Given the description of an element on the screen output the (x, y) to click on. 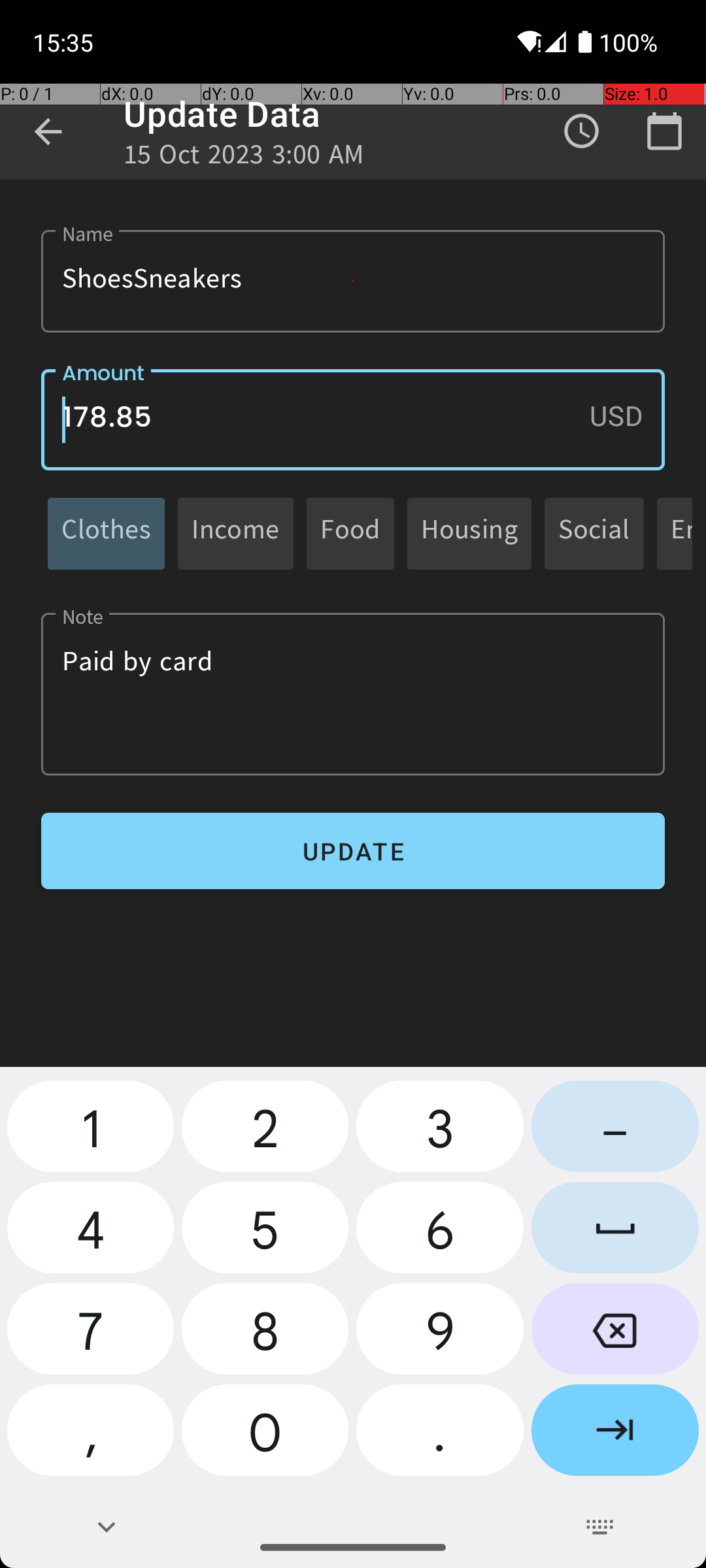
15 Oct 2023 3:00 AM Element type: android.widget.TextView (243, 157)
ShoesSneakers Element type: android.widget.EditText (352, 280)
178.85 Element type: android.widget.EditText (352, 419)
Clothes Element type: android.widget.TextView (106, 533)
